Given the description of an element on the screen output the (x, y) to click on. 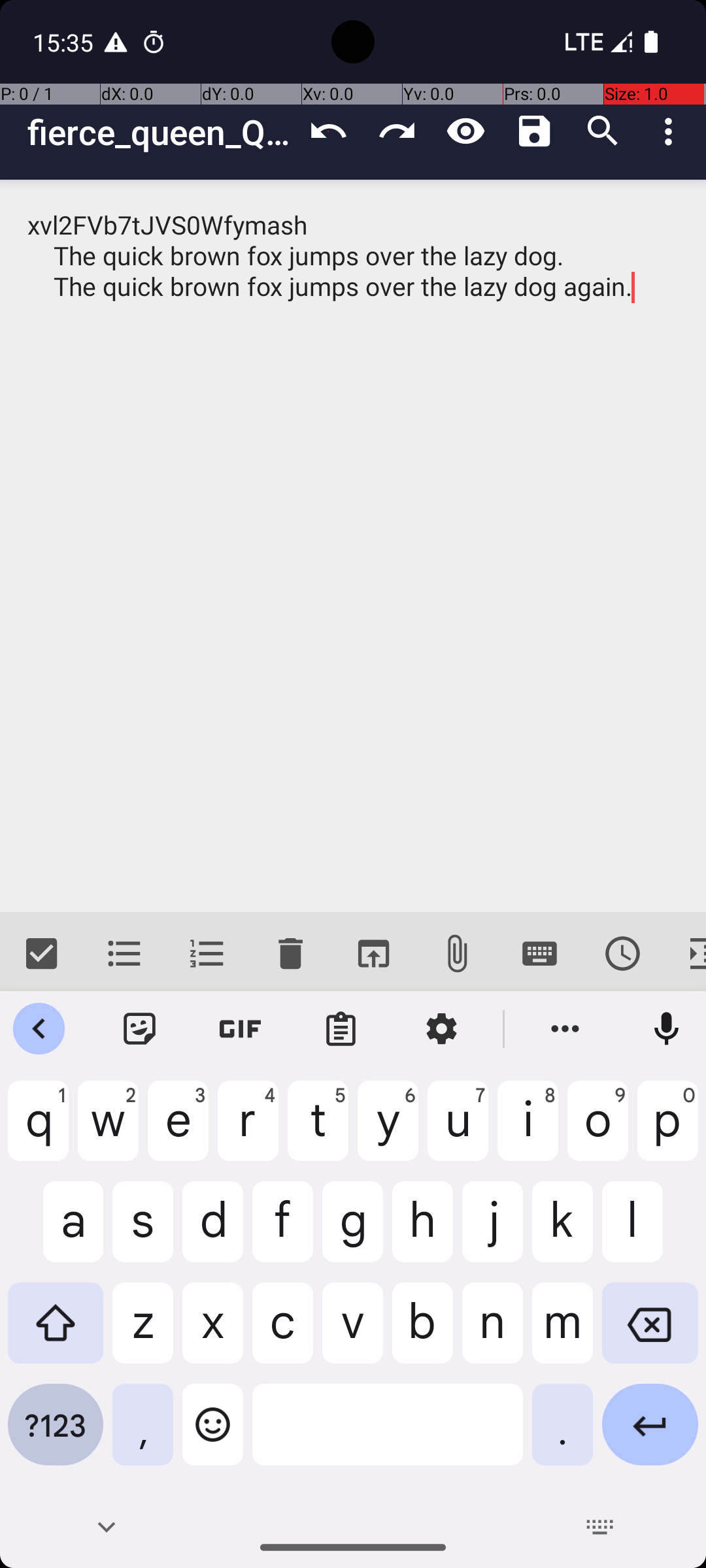
fierce_queen_QaaS Element type: android.widget.TextView (160, 131)
xvl2FVb7tJVS0Wfymash
    The quick brown fox jumps over the lazy dog.
    The quick brown fox jumps over the lazy dog again.
     Element type: android.widget.EditText (353, 545)
